Given the description of an element on the screen output the (x, y) to click on. 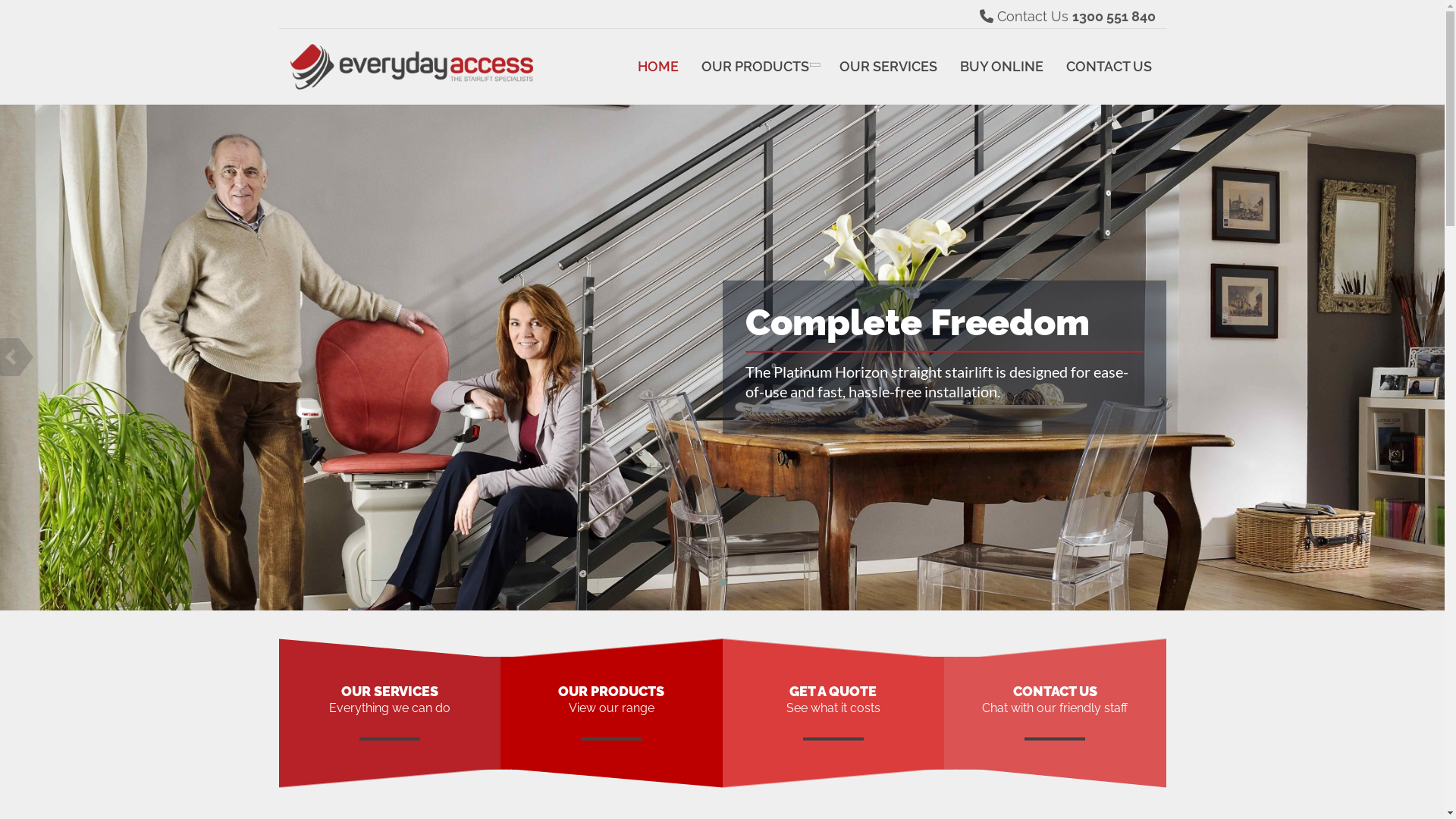
OUR SERVICES Element type: text (888, 66)
OUR PRODUCTS Element type: text (759, 66)
BUY ONLINE Element type: text (1000, 66)
CONTACT US Element type: text (1108, 66)
HOME Element type: text (658, 66)
